Given the description of an element on the screen output the (x, y) to click on. 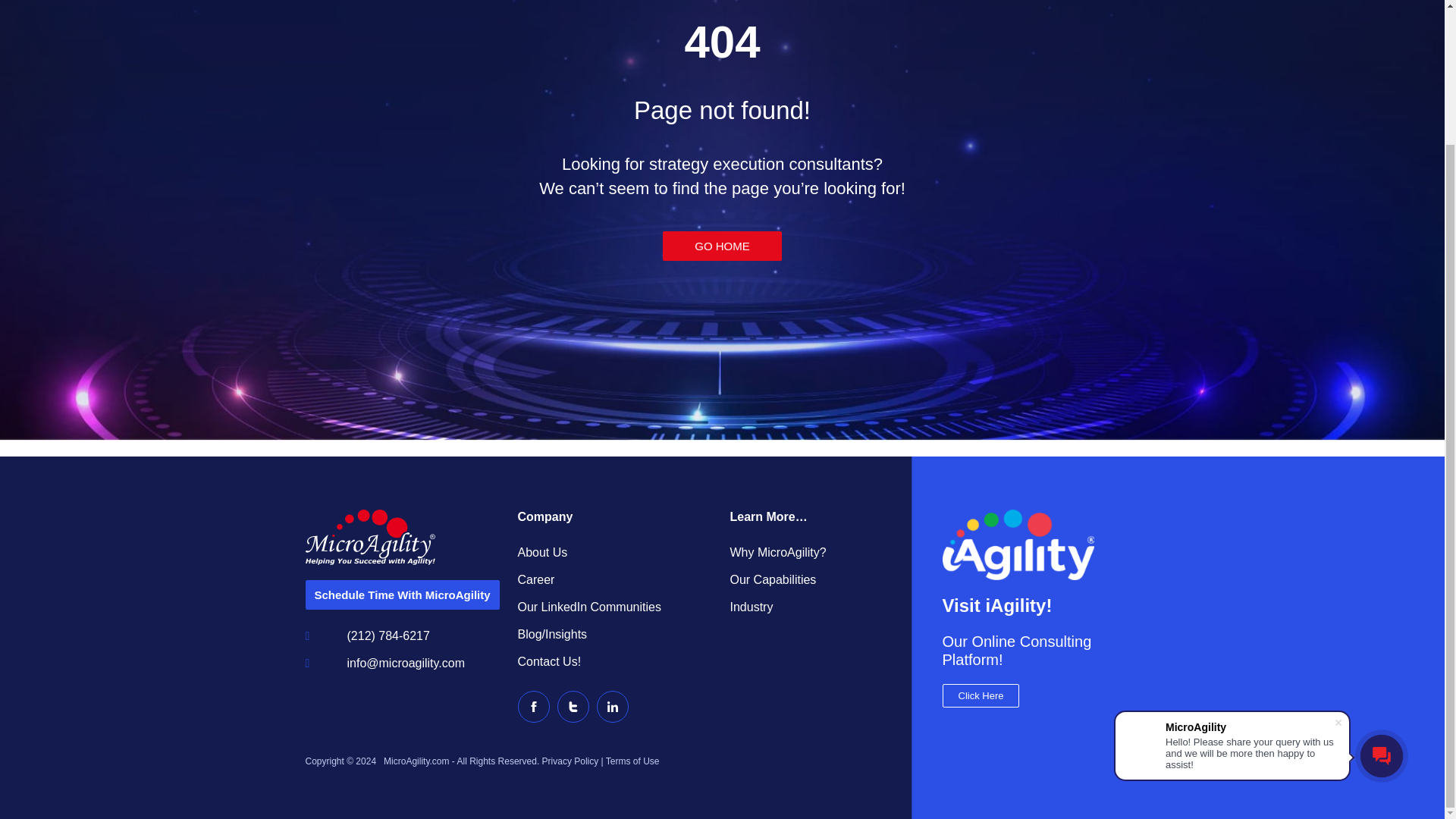
image (1017, 544)
Career (615, 579)
Schedule Time With MicroAgility (401, 594)
Our LinkedIn Communities (615, 606)
About Us (615, 552)
GO HOME (721, 245)
Contact Us! (615, 661)
